Given the description of an element on the screen output the (x, y) to click on. 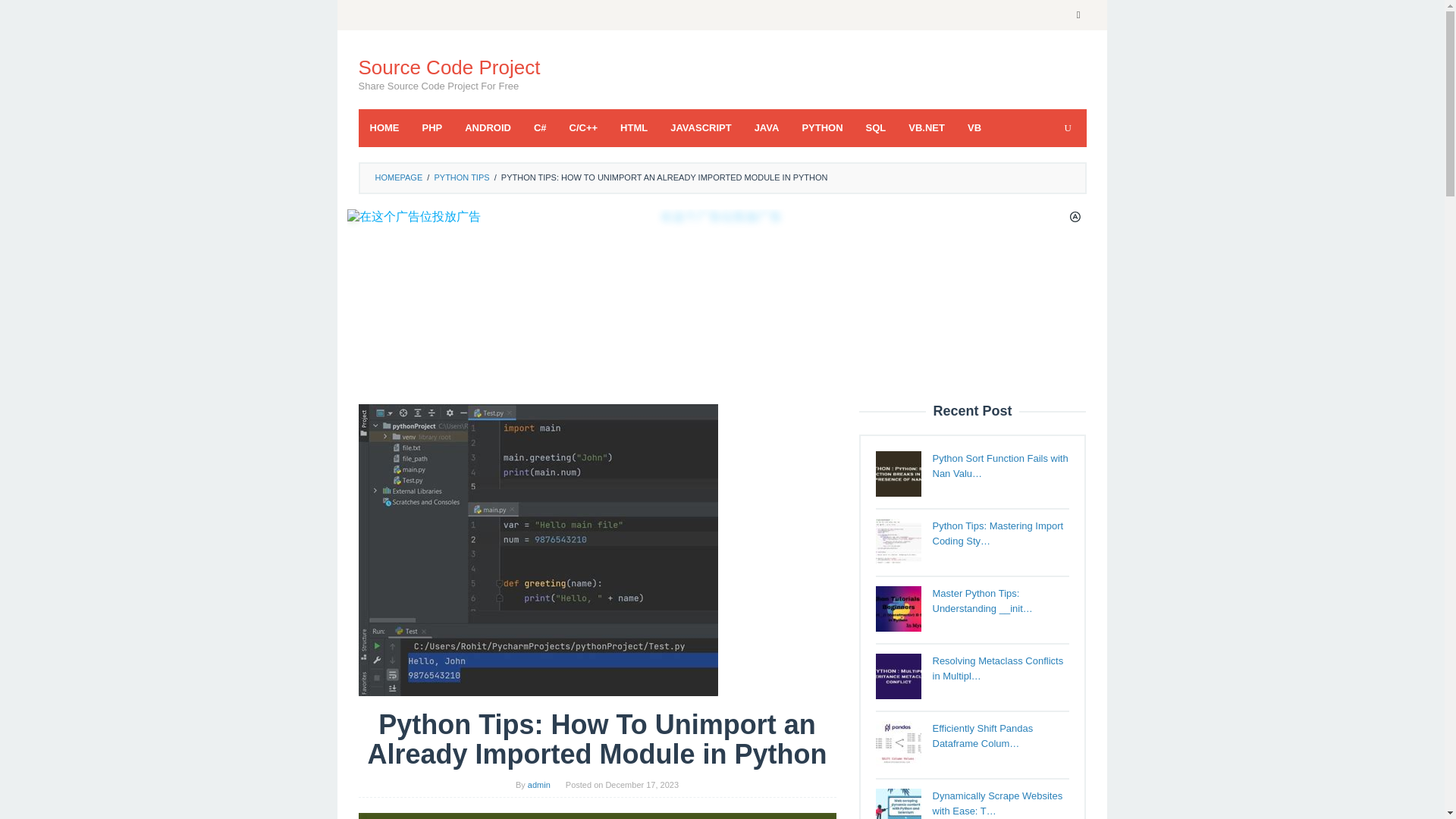
JAVASCRIPT (700, 127)
PHP (432, 127)
Source Code Project (449, 67)
Source Code Project (449, 67)
JAVA (766, 127)
PYTHON (821, 127)
HOME (384, 127)
PYTHON TIPS (461, 176)
HTML (633, 127)
ANDROID (487, 127)
VB (974, 127)
HOMEPAGE (398, 176)
Permalink to: admin (538, 784)
Python Sort Function Fails with Nan Values. (897, 473)
